Given the description of an element on the screen output the (x, y) to click on. 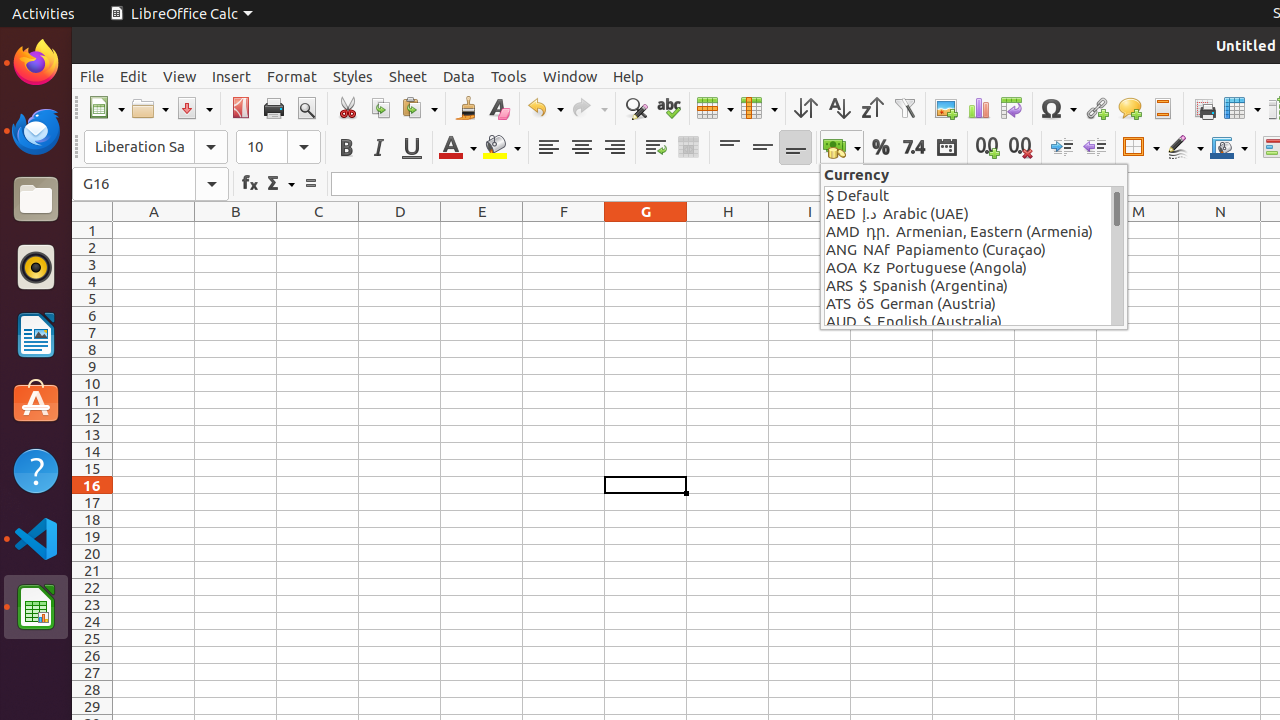
Rhythmbox Element type: push-button (36, 267)
Align Bottom Element type: push-button (795, 147)
Insert Element type: menu (231, 76)
LibreOffice Calc Element type: push-button (36, 607)
LibreOffice Calc Element type: menu (181, 13)
